Given the description of an element on the screen output the (x, y) to click on. 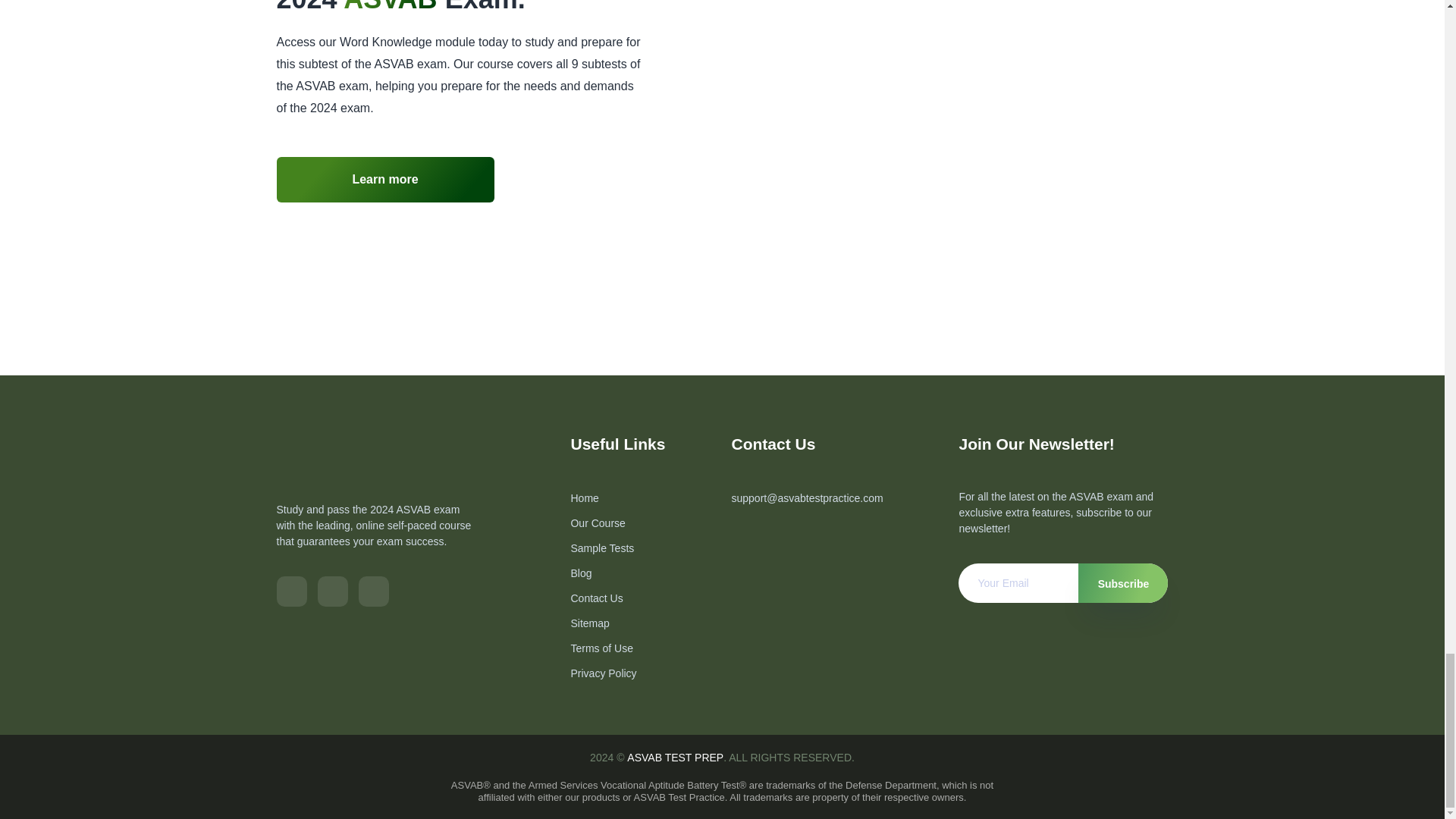
Blog (580, 573)
Home (584, 498)
Learn more (384, 179)
Sample Tests (601, 548)
Our Course (597, 523)
Contact Us (596, 598)
Subscribe (1122, 582)
